Given the description of an element on the screen output the (x, y) to click on. 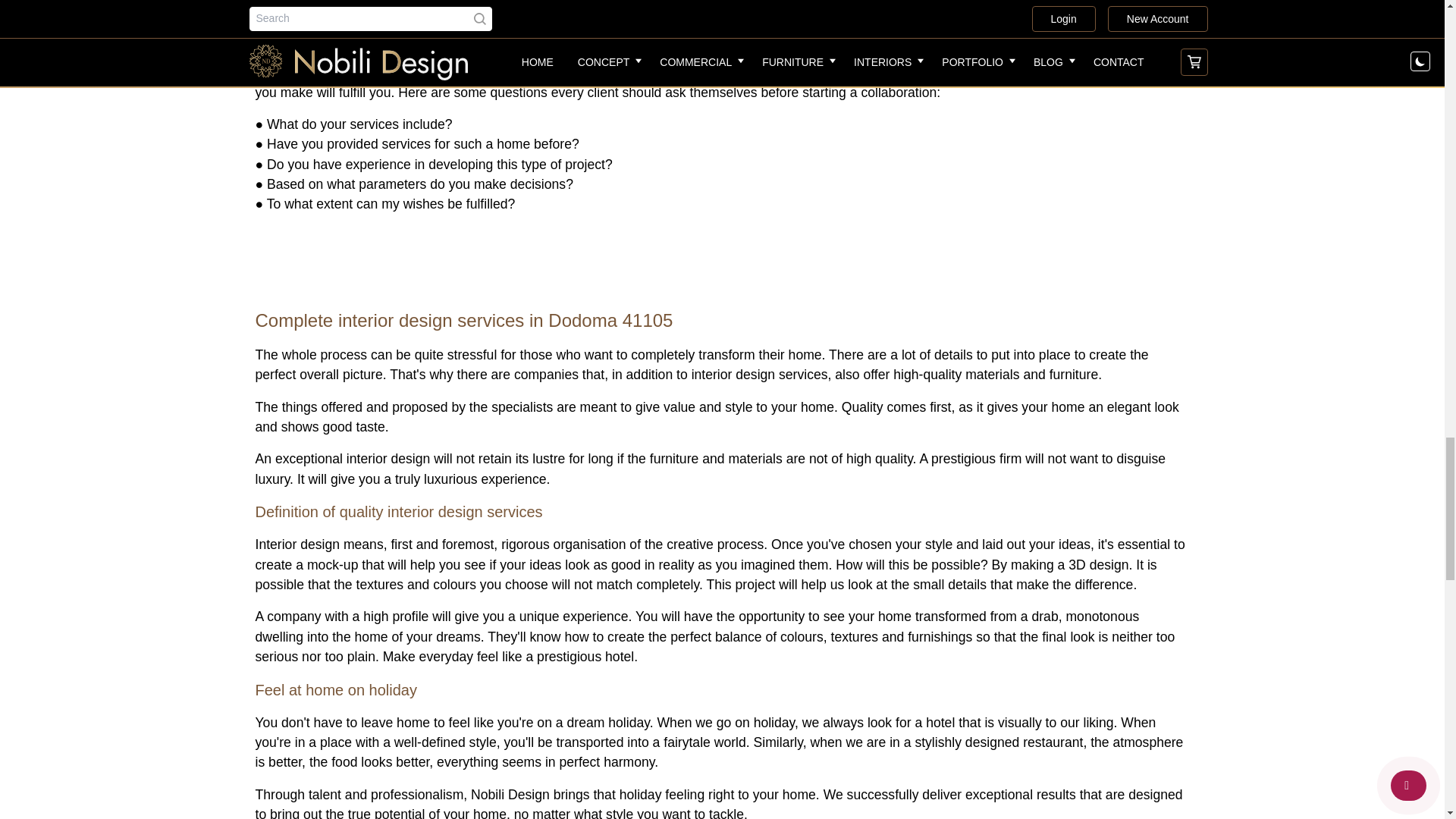
Essential questions to ask your specialist (721, 24)
Looking for a long-term investment (721, 799)
Complete interior design services in Dodoma 41105 (721, 291)
Feel at home on holiday (721, 661)
Definition of quality interior design services (721, 483)
